Given the description of an element on the screen output the (x, y) to click on. 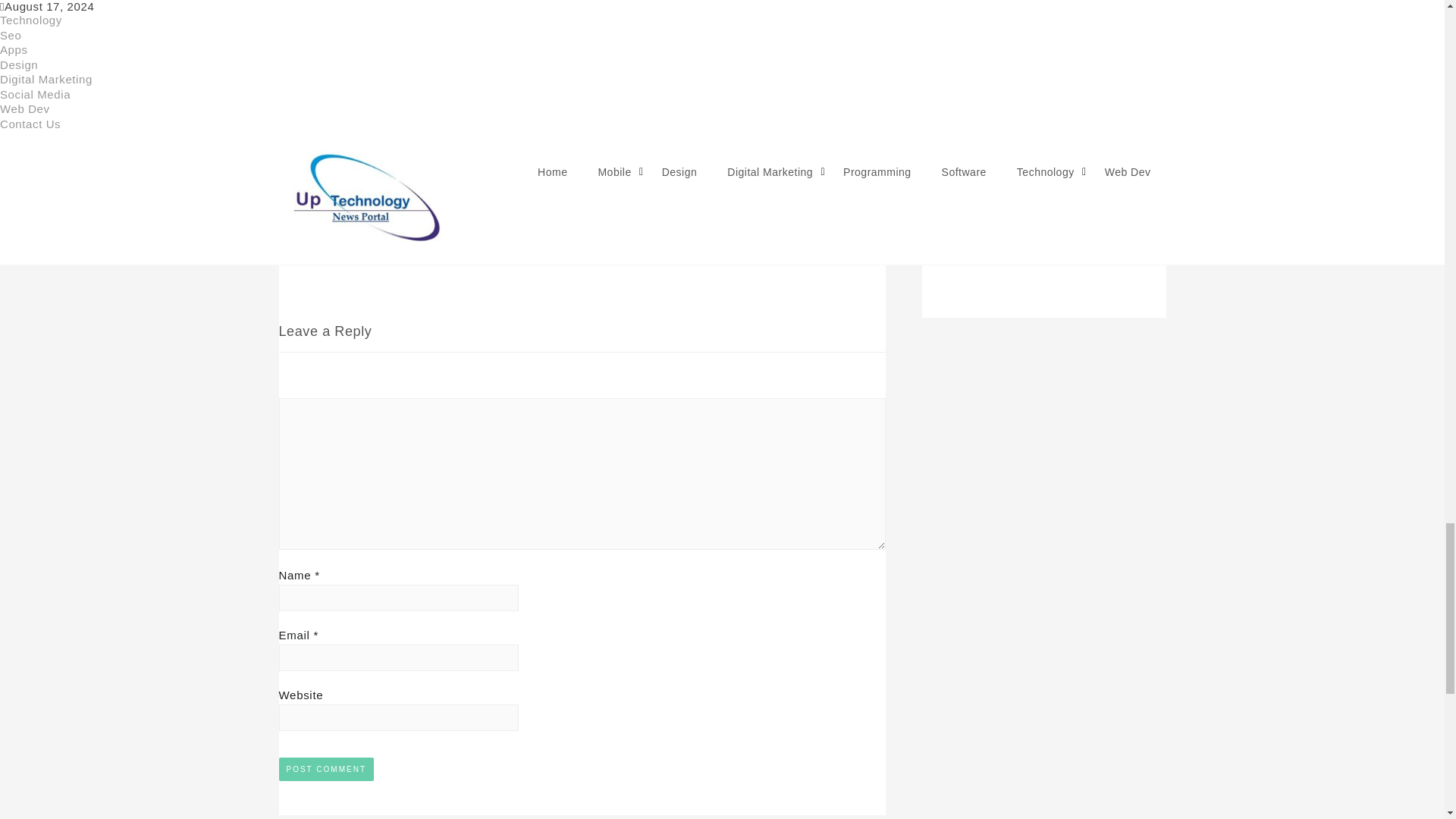
How Do I Recover Deleted Files From Hard Disk For Free (581, 93)
Improving Customer Service: Tips and Tricks (387, 175)
An Easier Way To Use Internet And TV: Spectrum Double Play (680, 4)
Post Comment (326, 769)
Post Comment (326, 769)
